Given the description of an element on the screen output the (x, y) to click on. 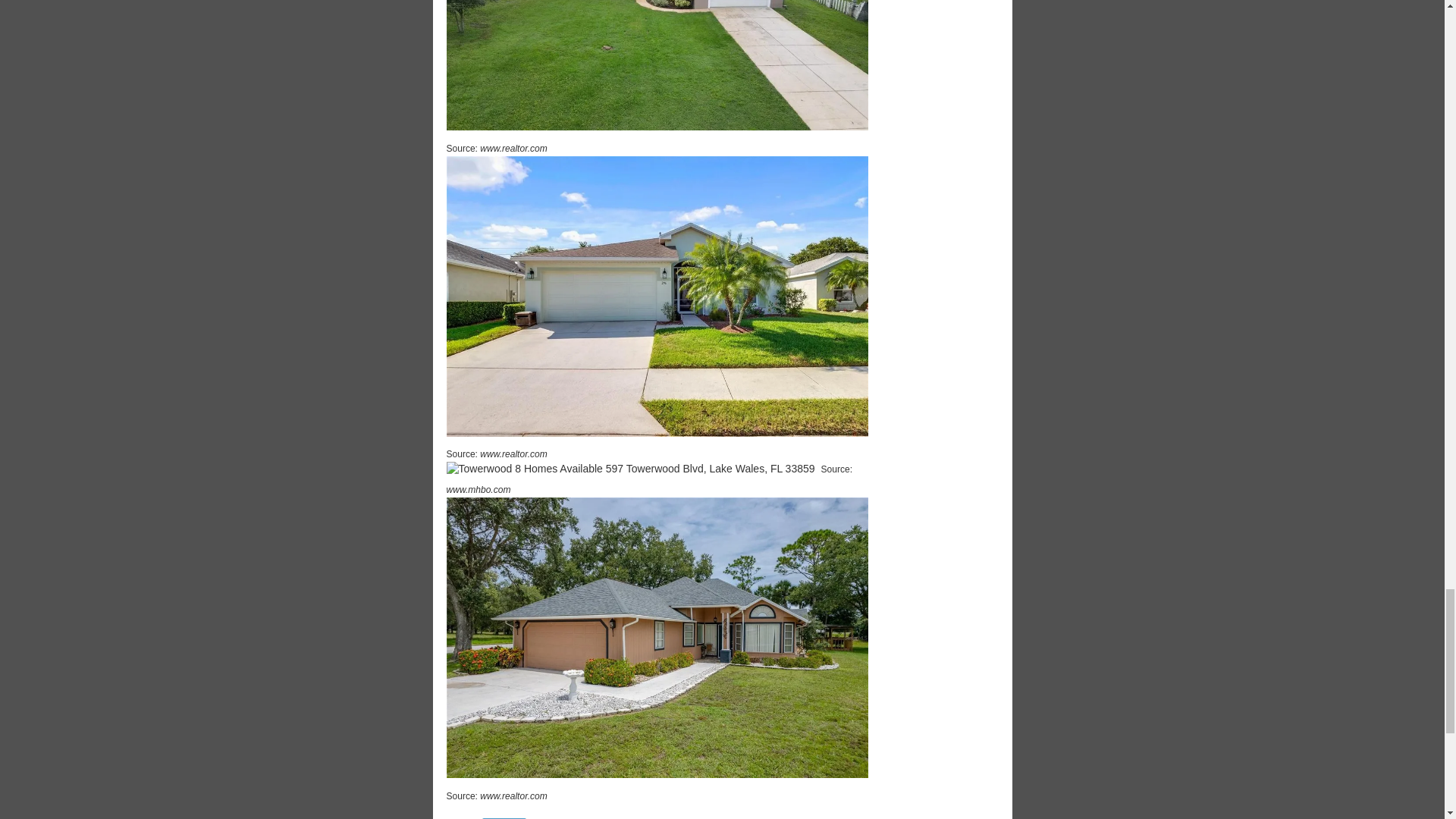
Share (504, 818)
